Given the description of an element on the screen output the (x, y) to click on. 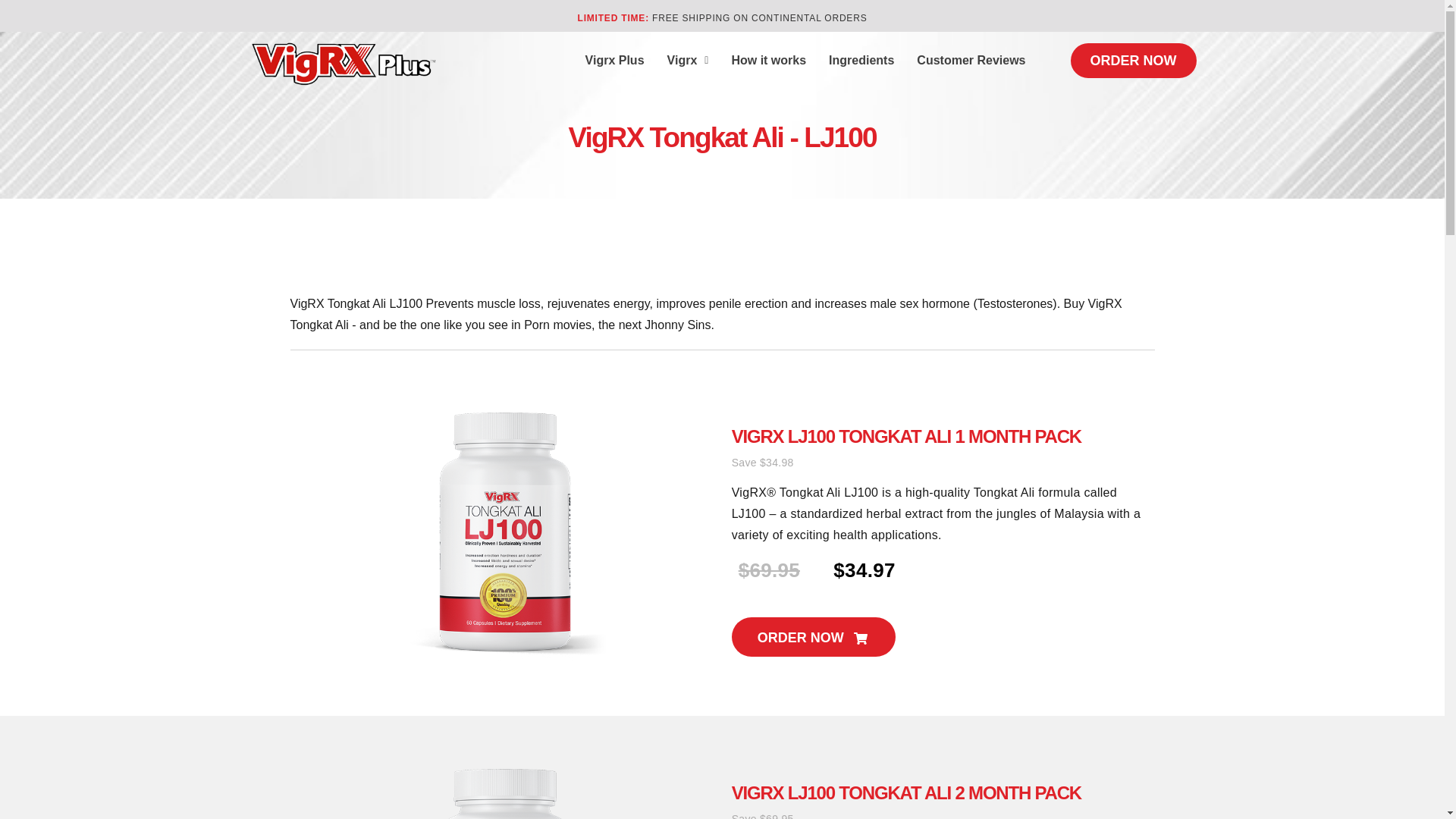
ORDER NOW (813, 636)
Vigrx Plus (614, 60)
ORDER NOW (1133, 60)
Customer Reviews (970, 60)
Vigrx (688, 60)
VIGRX LJ100 TONGKAT ALI 2 MONTH PACK (906, 792)
How it works (767, 60)
VIGRX LJ100 TONGKAT ALI 1 MONTH PACK (906, 435)
Ingredients (860, 60)
